Given the description of an element on the screen output the (x, y) to click on. 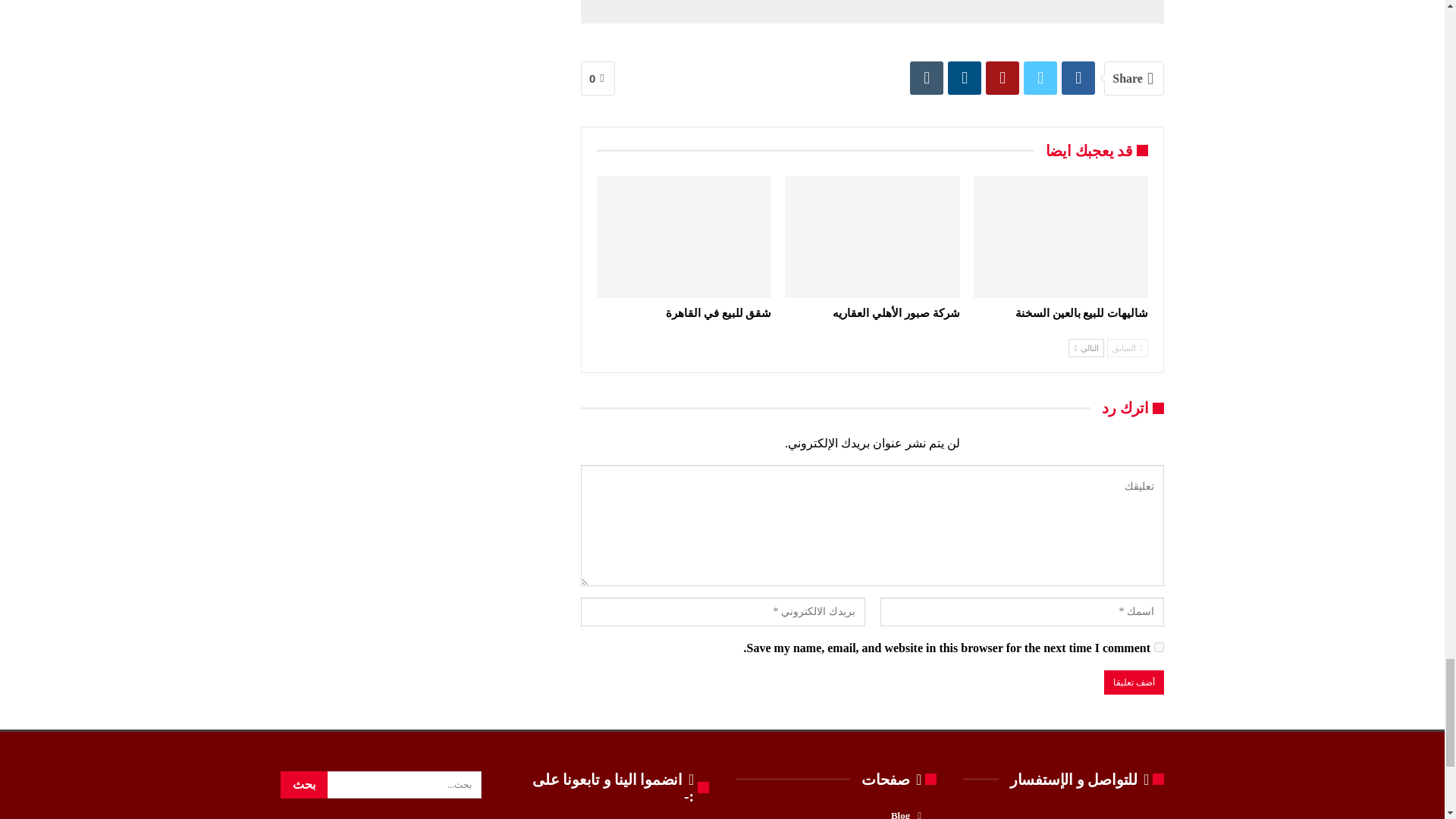
yes (1158, 646)
0 (597, 78)
